Given the description of an element on the screen output the (x, y) to click on. 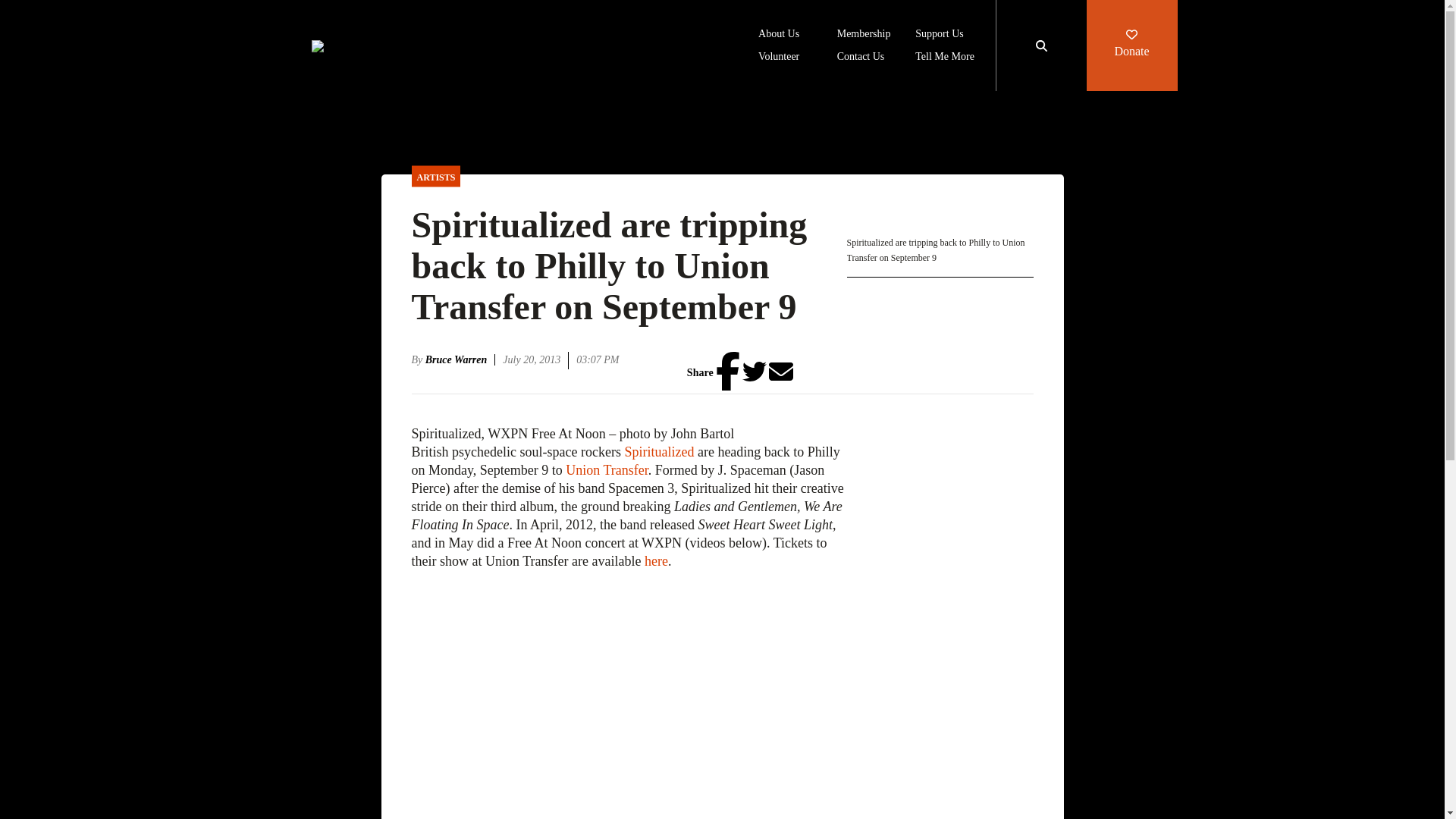
Tell Me More (944, 57)
Union Transfer (606, 469)
Donate (1131, 45)
Membership (864, 35)
Bruce Warren (460, 359)
here (656, 560)
Support Us (938, 35)
Volunteer (778, 57)
Spiritualized (659, 451)
About Us (778, 35)
